Given the description of an element on the screen output the (x, y) to click on. 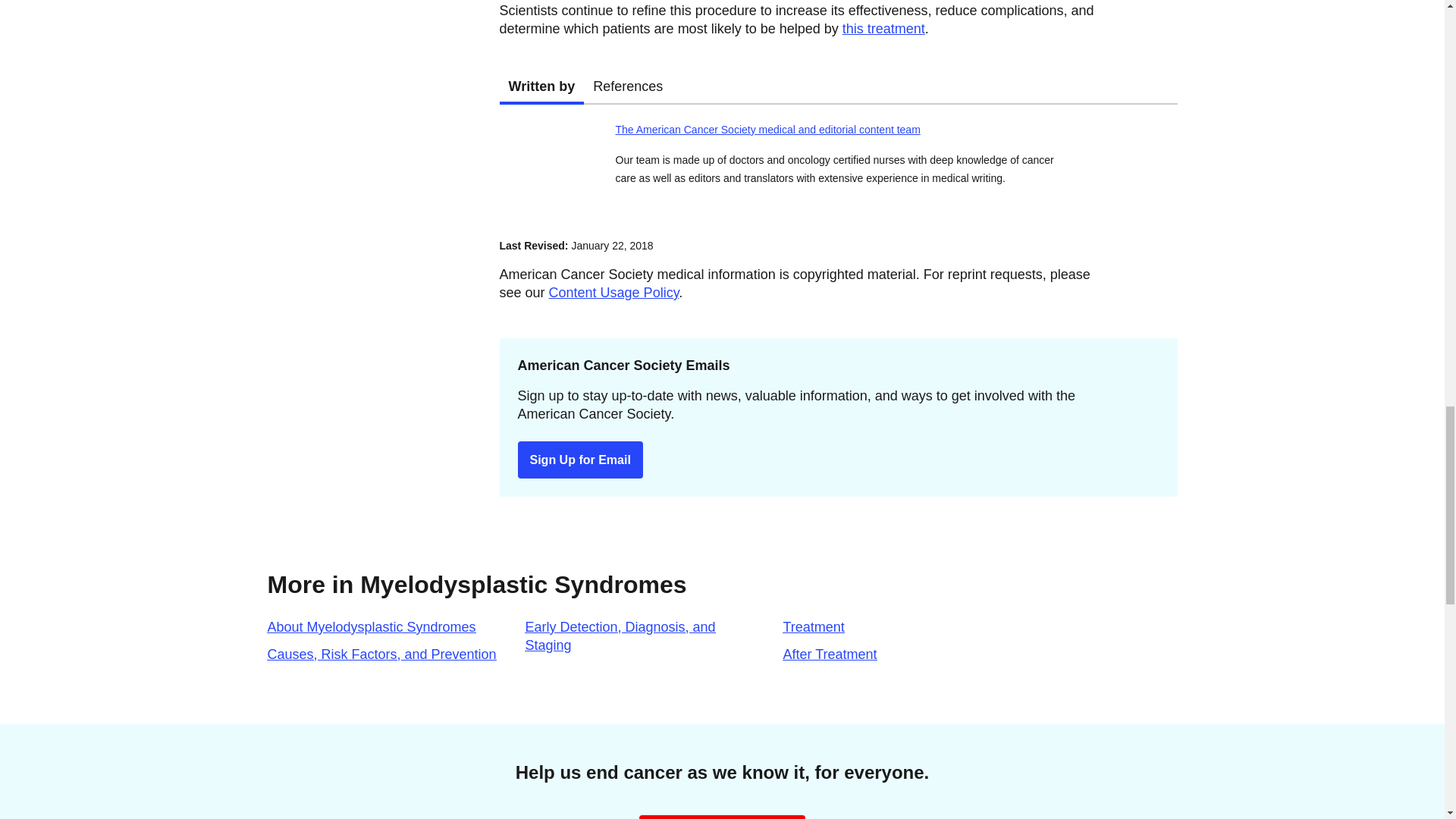
After Treatment (829, 654)
Treatment (837, 85)
Early Detection, Diagnosis, and Staging (813, 626)
About Myelodysplastic Syndromes (619, 635)
Causes, Risk Factors, and Prevention (371, 626)
